Given the description of an element on the screen output the (x, y) to click on. 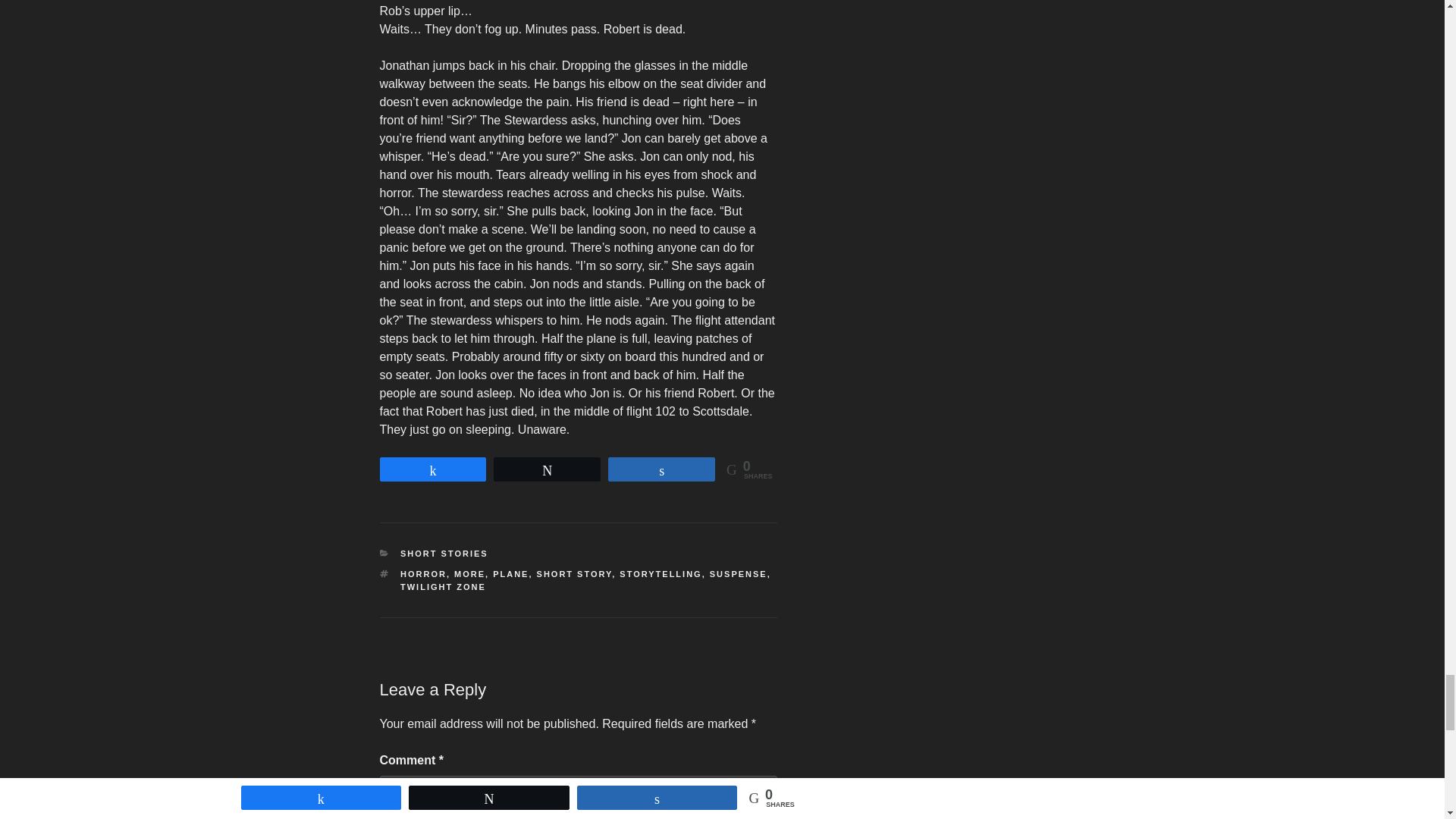
SUSPENSE (738, 573)
PLANE (510, 573)
HORROR (423, 573)
TWILIGHT ZONE (443, 586)
STORYTELLING (660, 573)
MORE (469, 573)
SHORT STORIES (443, 552)
SHORT STORY (574, 573)
